Given the description of an element on the screen output the (x, y) to click on. 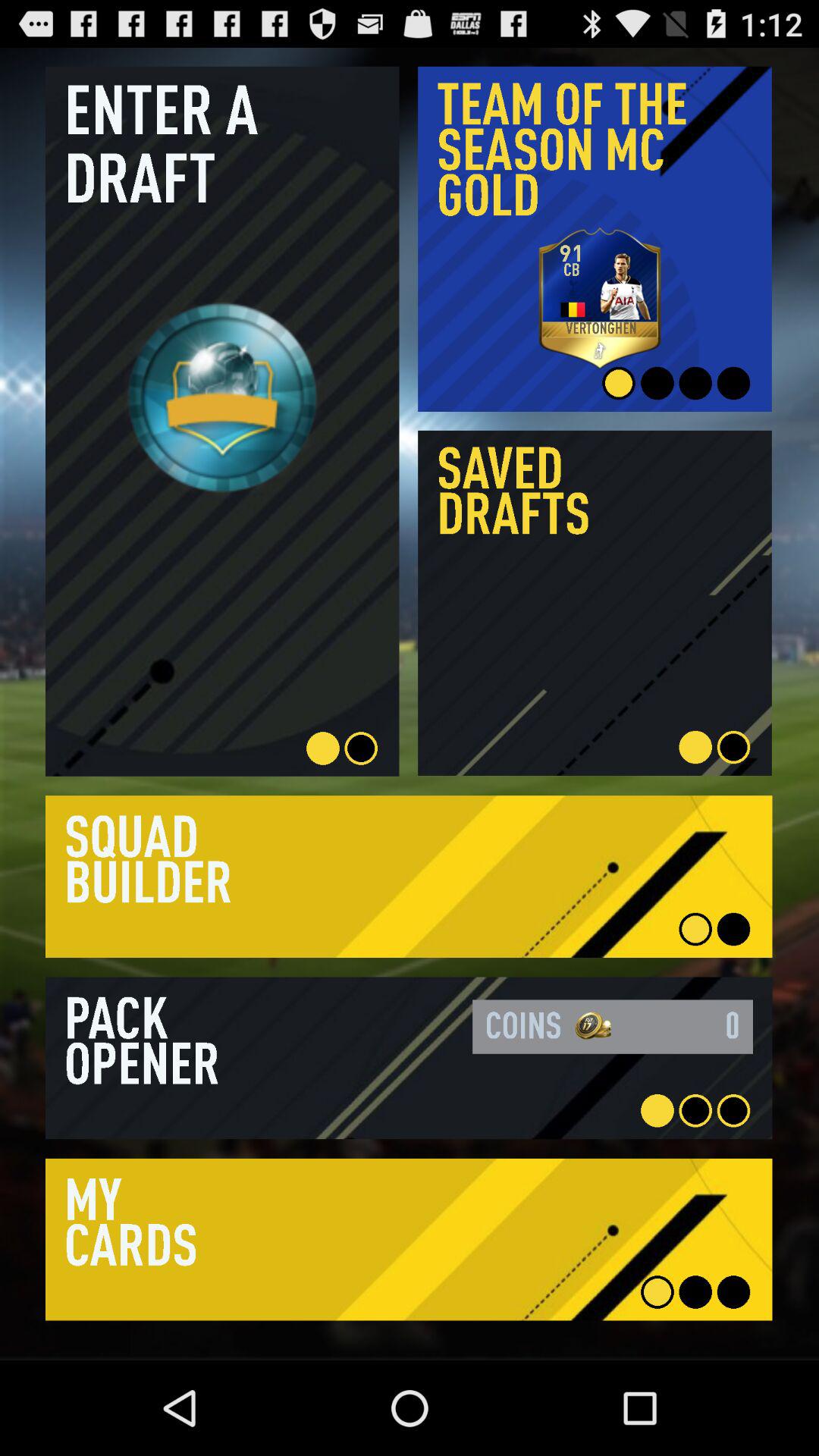
share the article (408, 1058)
